Given the description of an element on the screen output the (x, y) to click on. 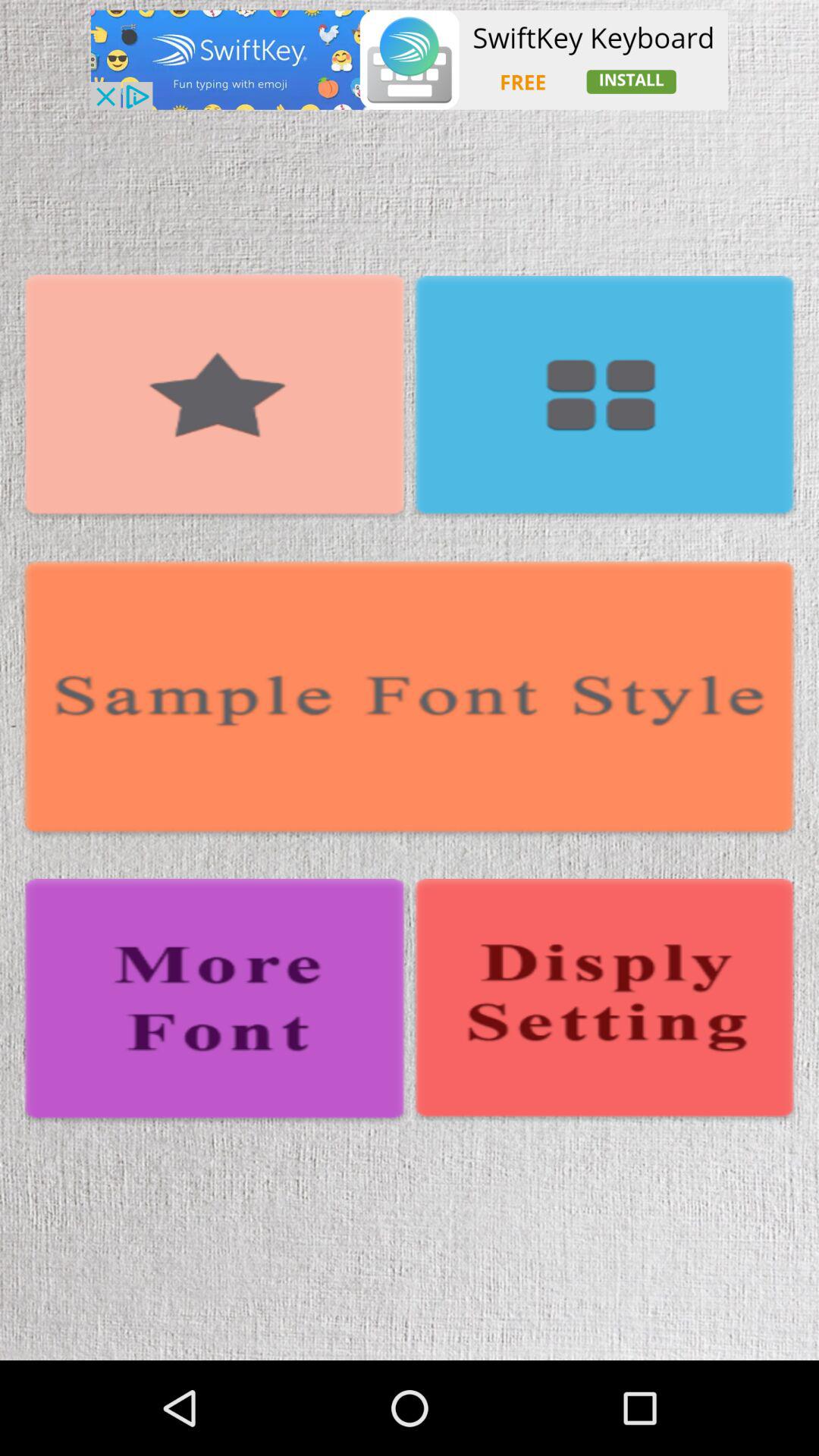
advertisement (409, 59)
